Given the description of an element on the screen output the (x, y) to click on. 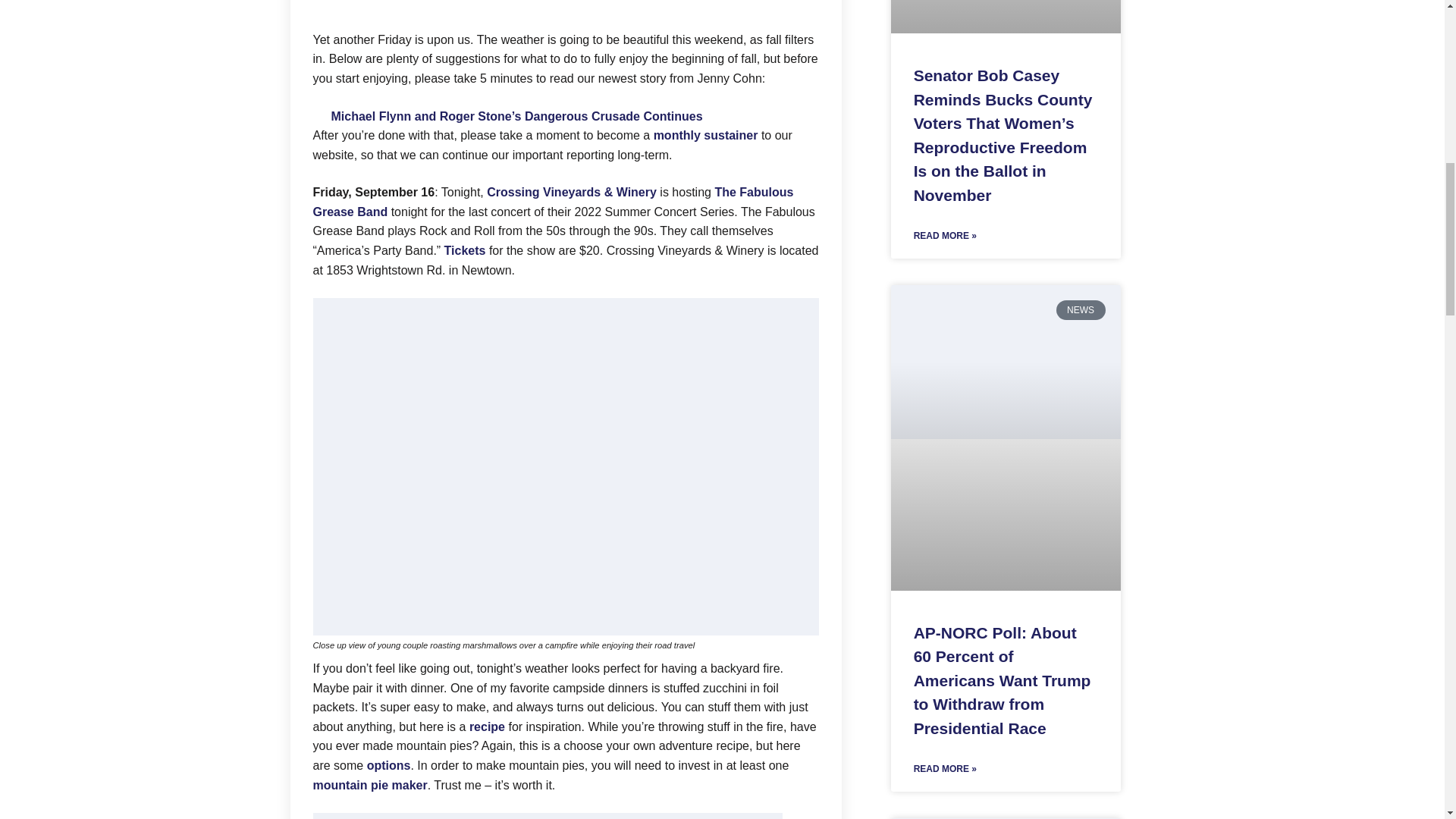
monthly sustainer (705, 134)
The Fabulous Grease Band (553, 201)
recipe (486, 726)
mountain pie maker (369, 784)
options (388, 765)
Tickets (465, 250)
